Given the description of an element on the screen output the (x, y) to click on. 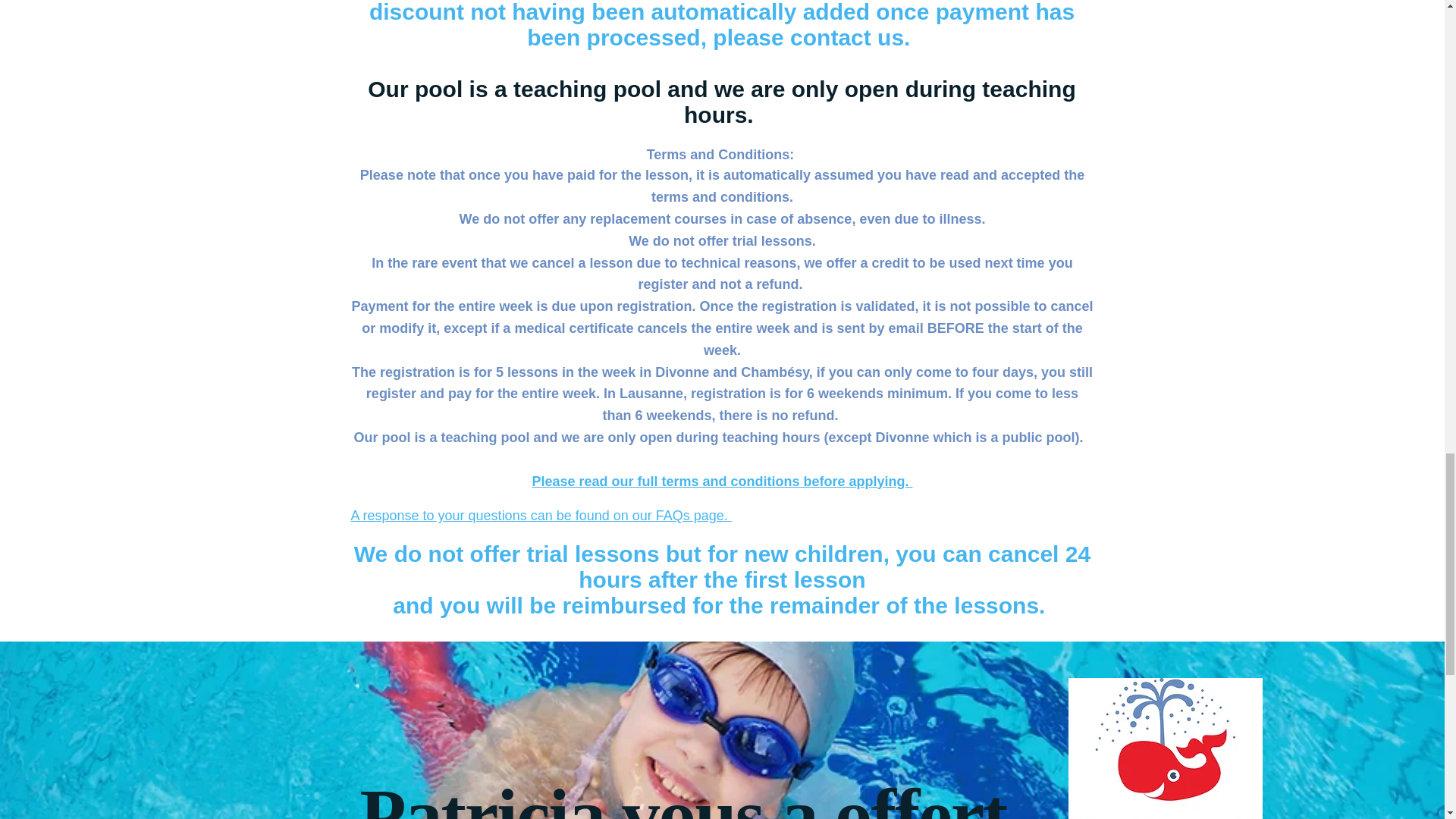
A response to your questions can be found on our FAQs page.  (540, 515)
Please read our full terms and conditions before applying.  (721, 481)
